Given the description of an element on the screen output the (x, y) to click on. 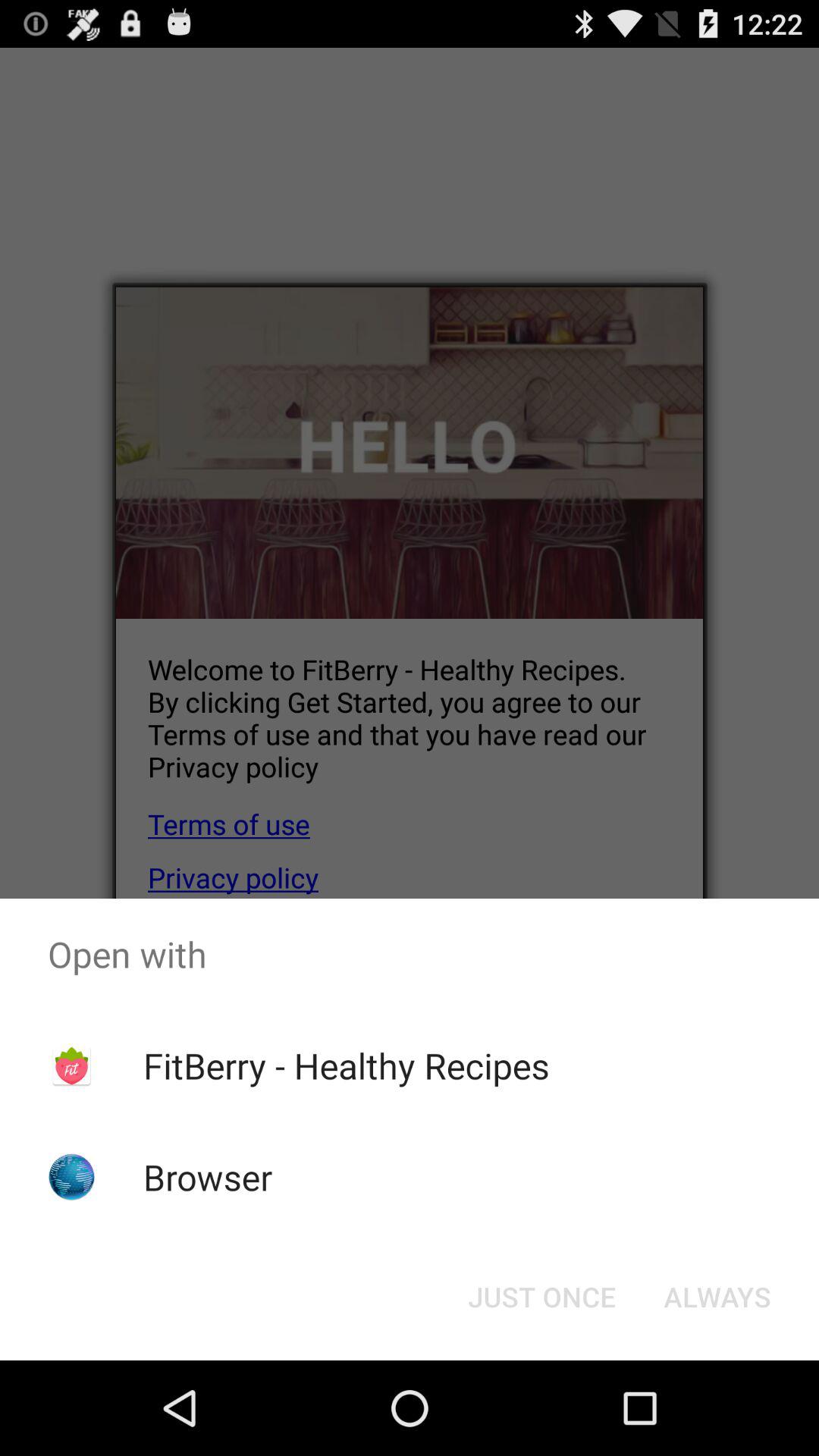
turn off icon next to always button (541, 1296)
